Given the description of an element on the screen output the (x, y) to click on. 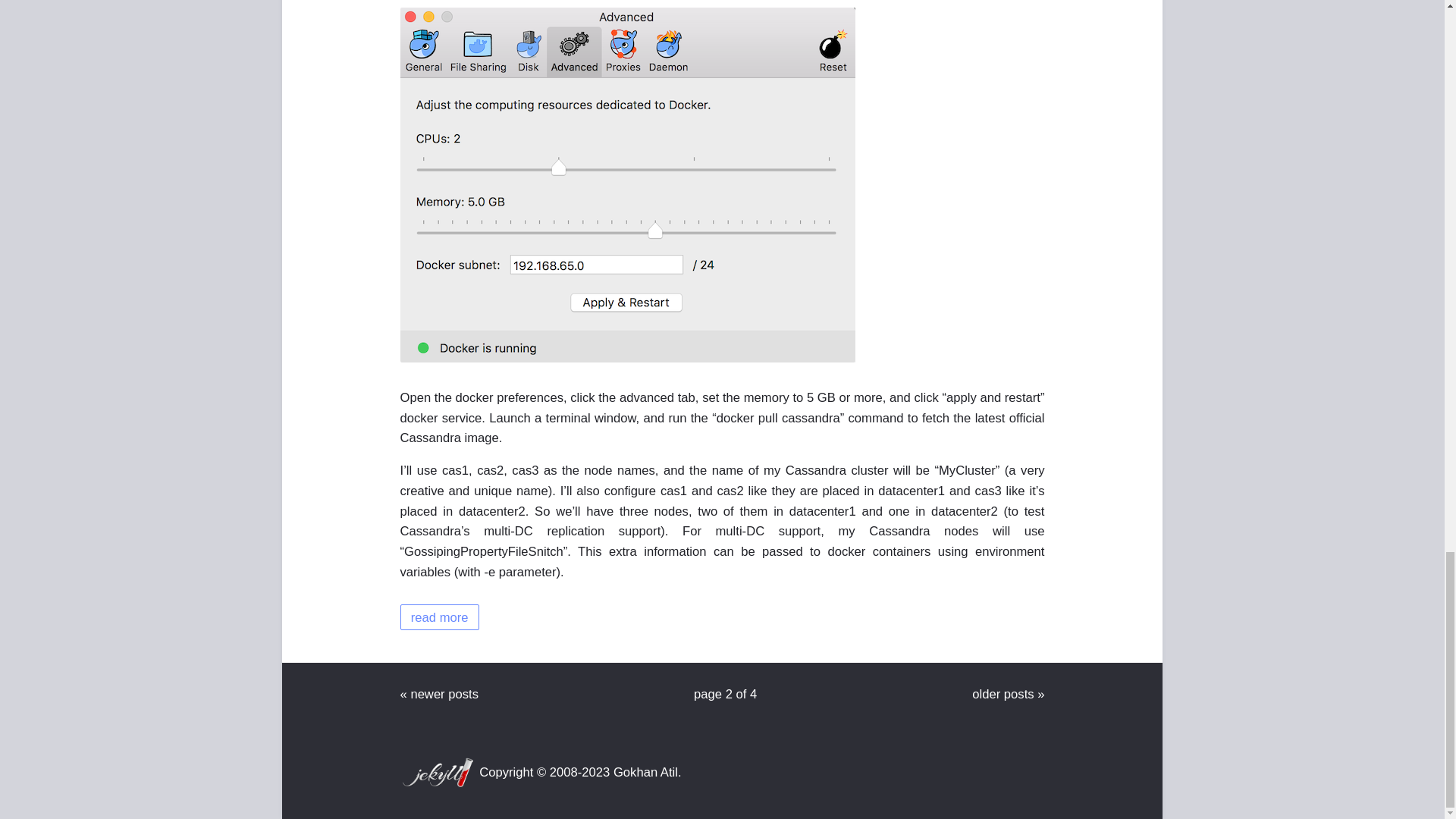
Powered by Jekyll (438, 772)
read more (439, 616)
